Given the description of an element on the screen output the (x, y) to click on. 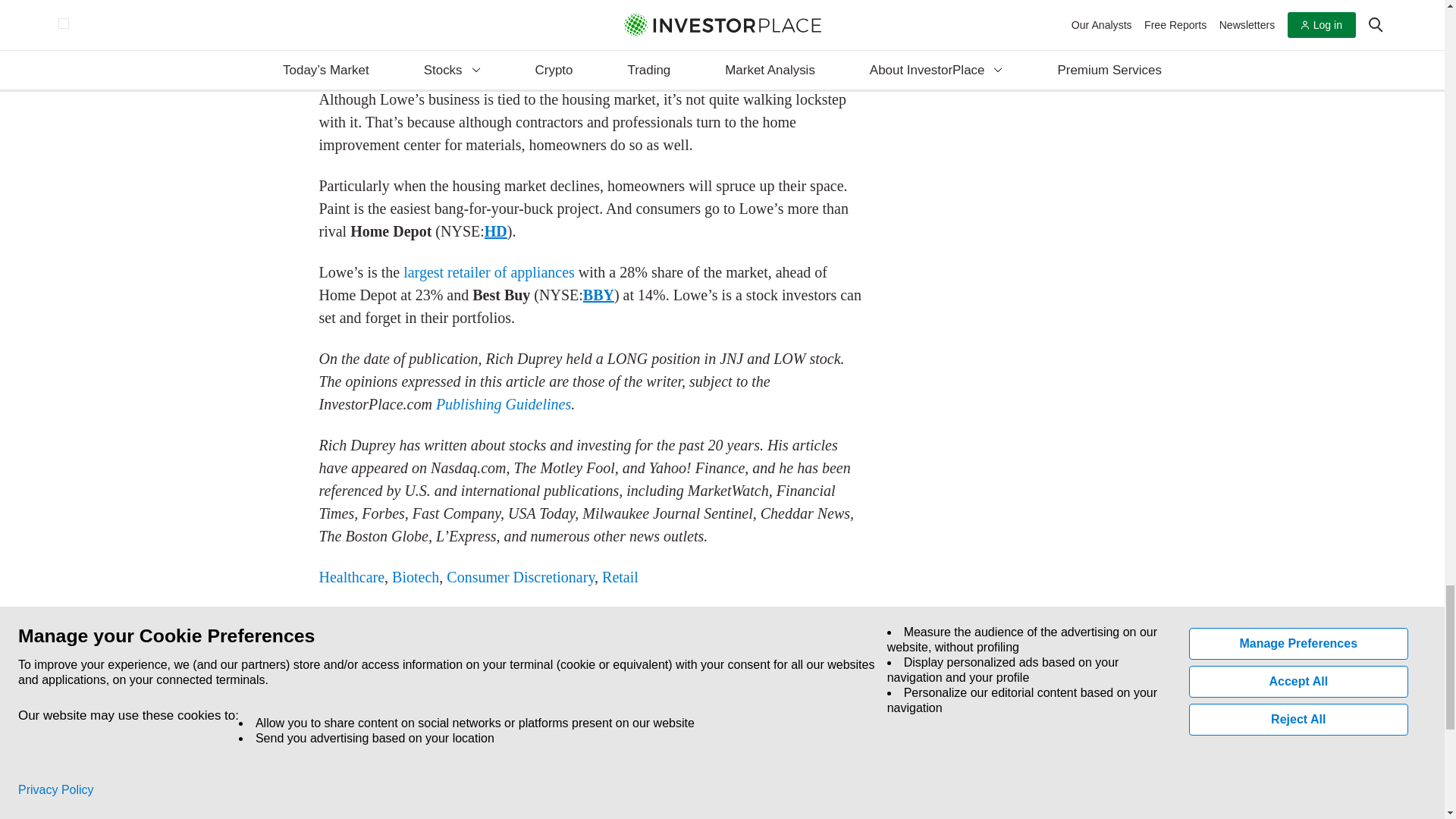
Articles from Consumer Discretionary industry (520, 576)
Articles from Retail industry (620, 576)
Articles from Healthcare industry (351, 576)
Articles from Biotech industry (415, 576)
